Given the description of an element on the screen output the (x, y) to click on. 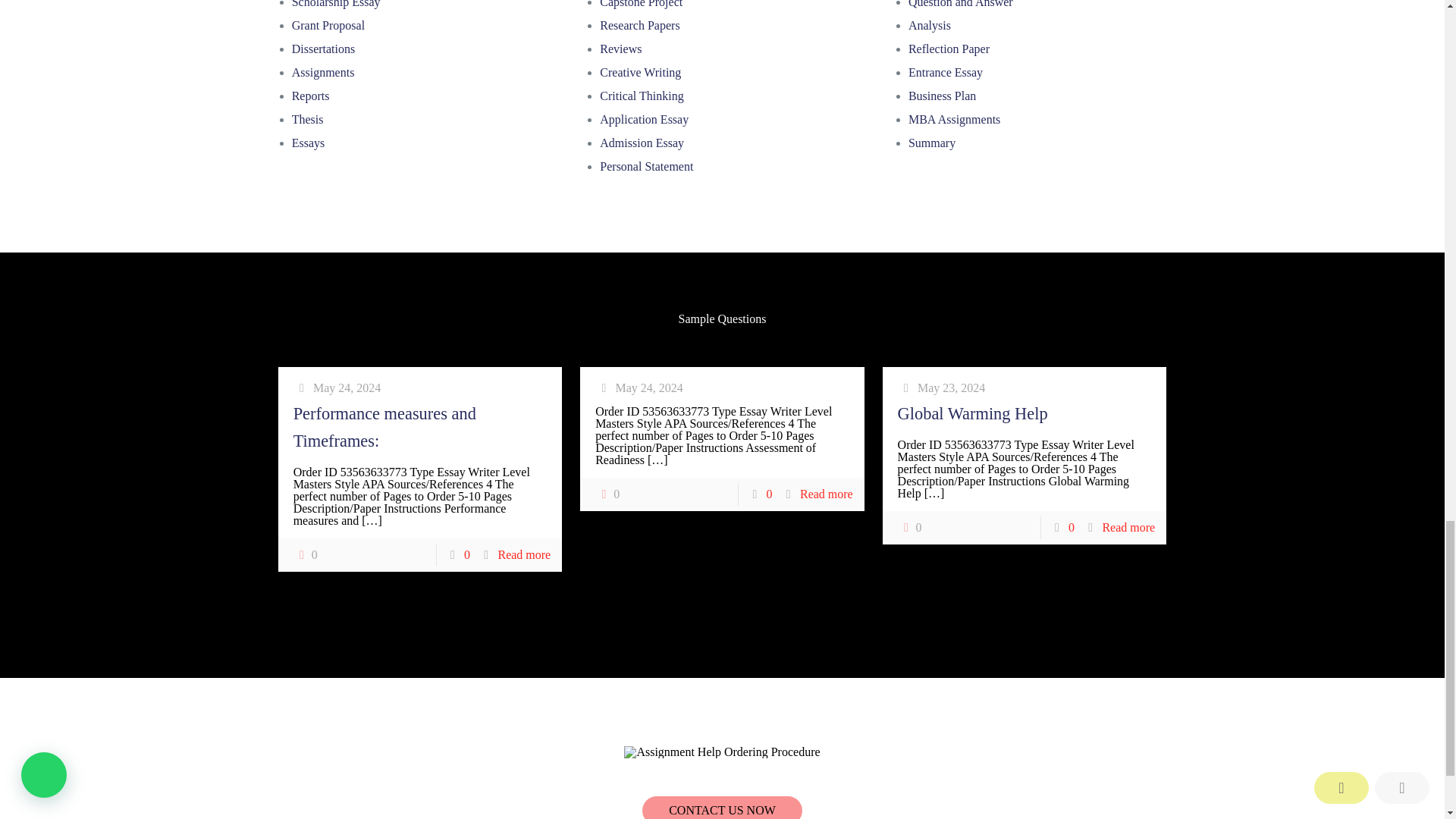
0 (909, 527)
0 (305, 554)
Read more (523, 554)
Read more (826, 493)
Performance measures and Timeframes: (385, 427)
Read more (1128, 526)
Global Warming Help (973, 413)
CONTACT US NOW (722, 807)
0 (607, 494)
